Given the description of an element on the screen output the (x, y) to click on. 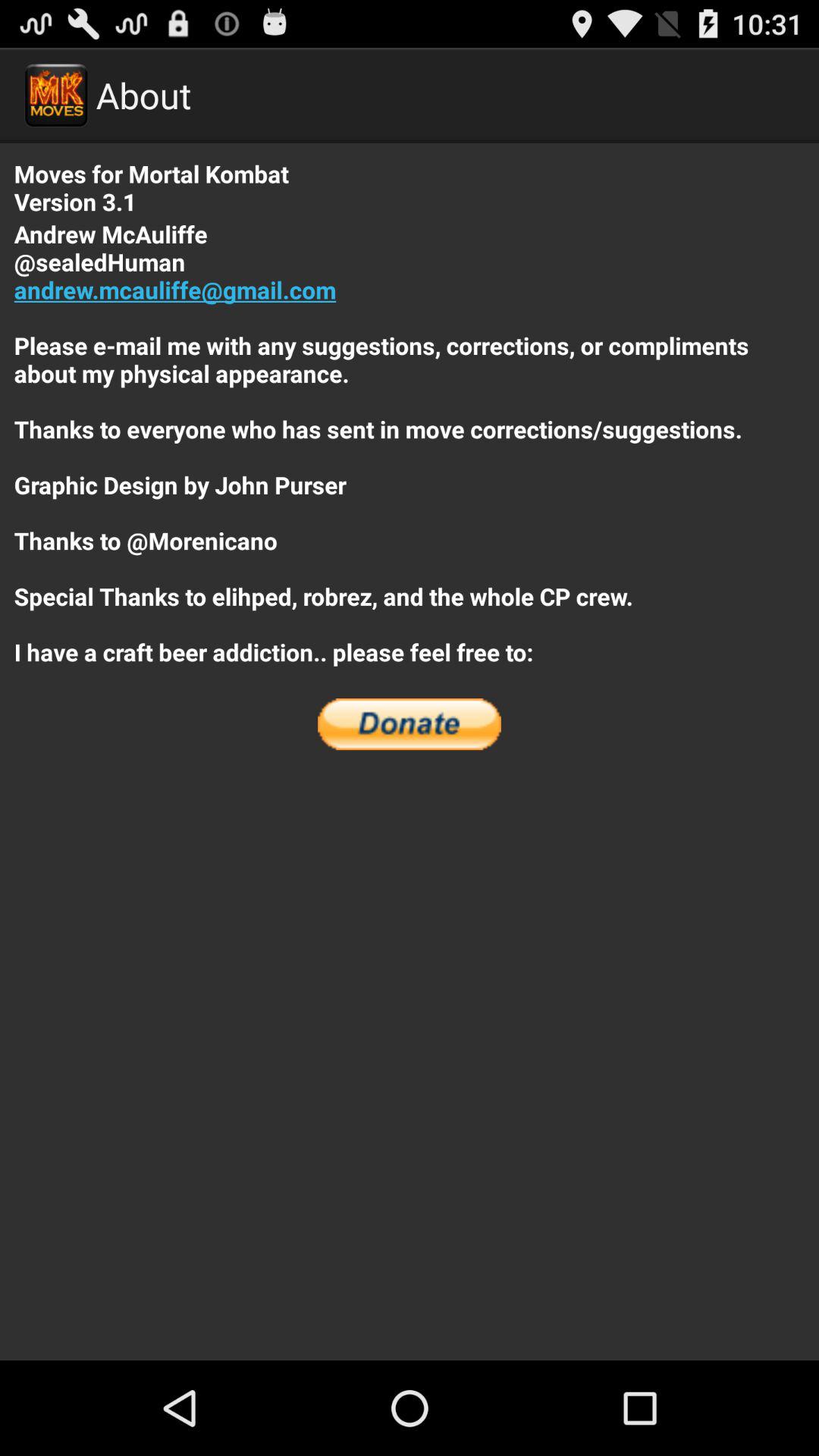
shows donate option (409, 724)
